Given the description of an element on the screen output the (x, y) to click on. 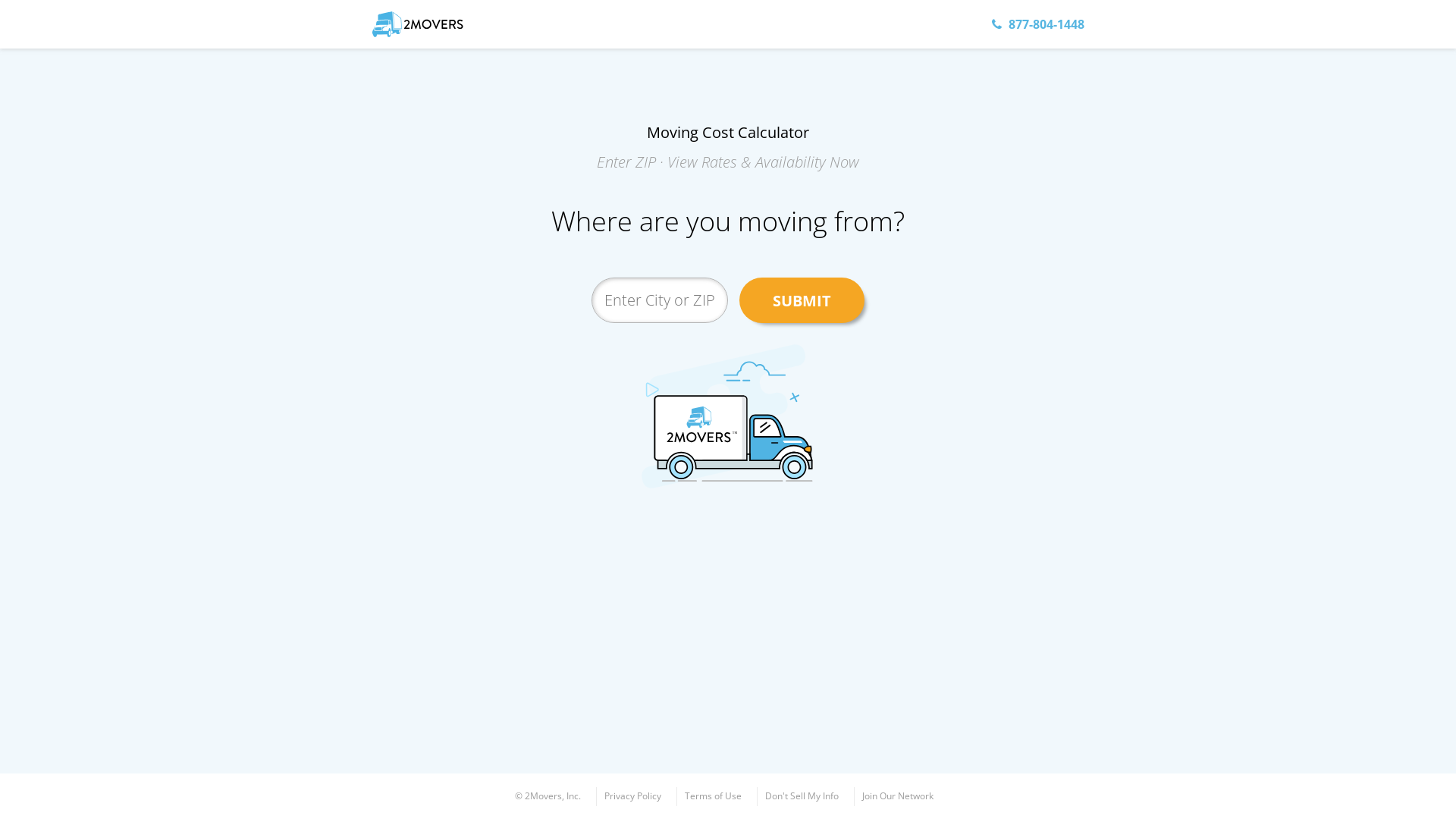
Don't Sell My Info Element type: text (801, 794)
Privacy Policy Element type: text (632, 794)
SUBMIT Element type: text (801, 300)
2 Movers Element type: hover (420, 24)
Join Our Network Element type: text (897, 794)
877-804-1448 Element type: text (1037, 23)
Terms of Use Element type: text (712, 794)
